Given the description of an element on the screen output the (x, y) to click on. 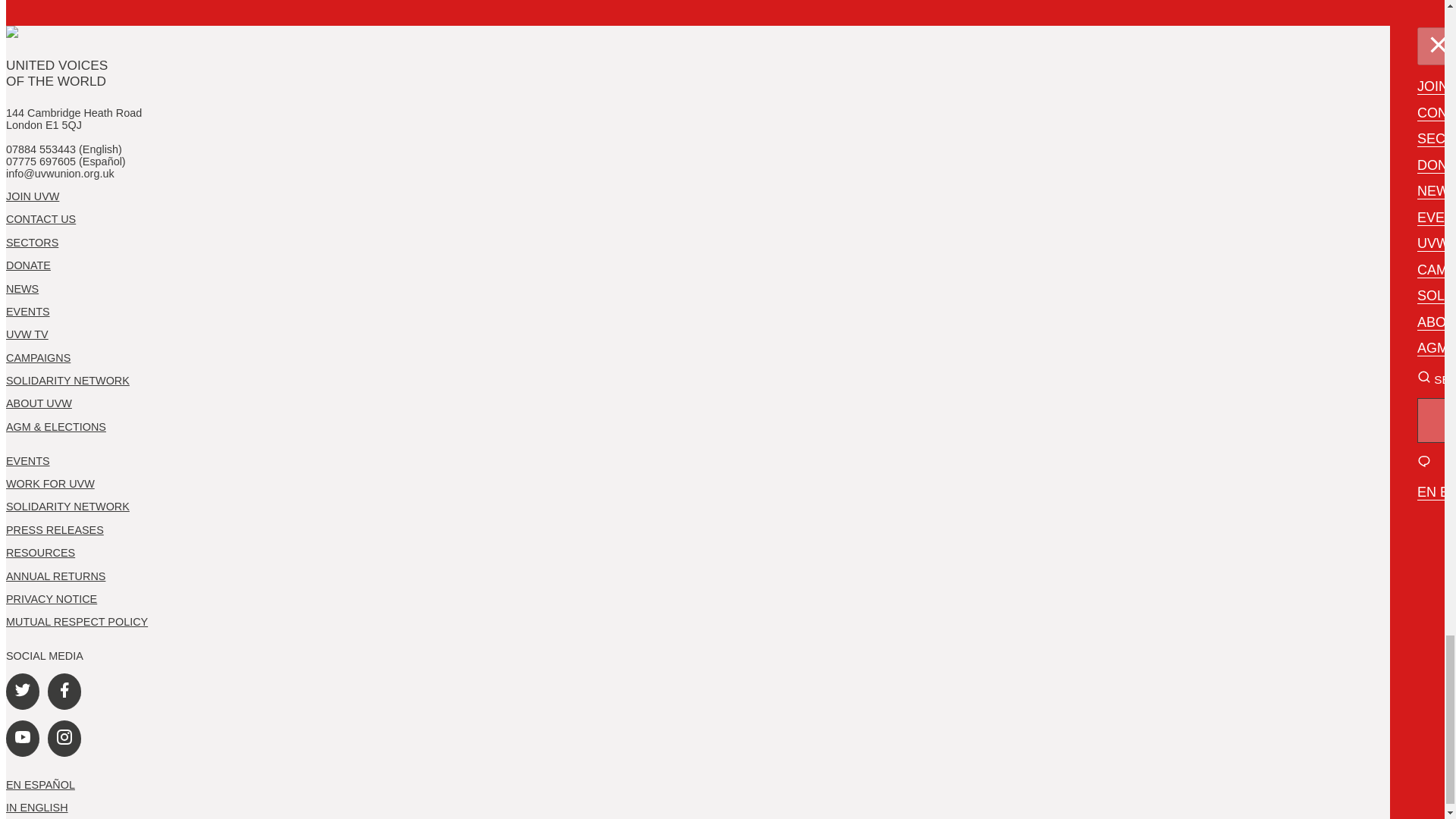
Twitter (22, 691)
Facebook (64, 691)
YouTube (22, 738)
Instagram (64, 738)
